Given the description of an element on the screen output the (x, y) to click on. 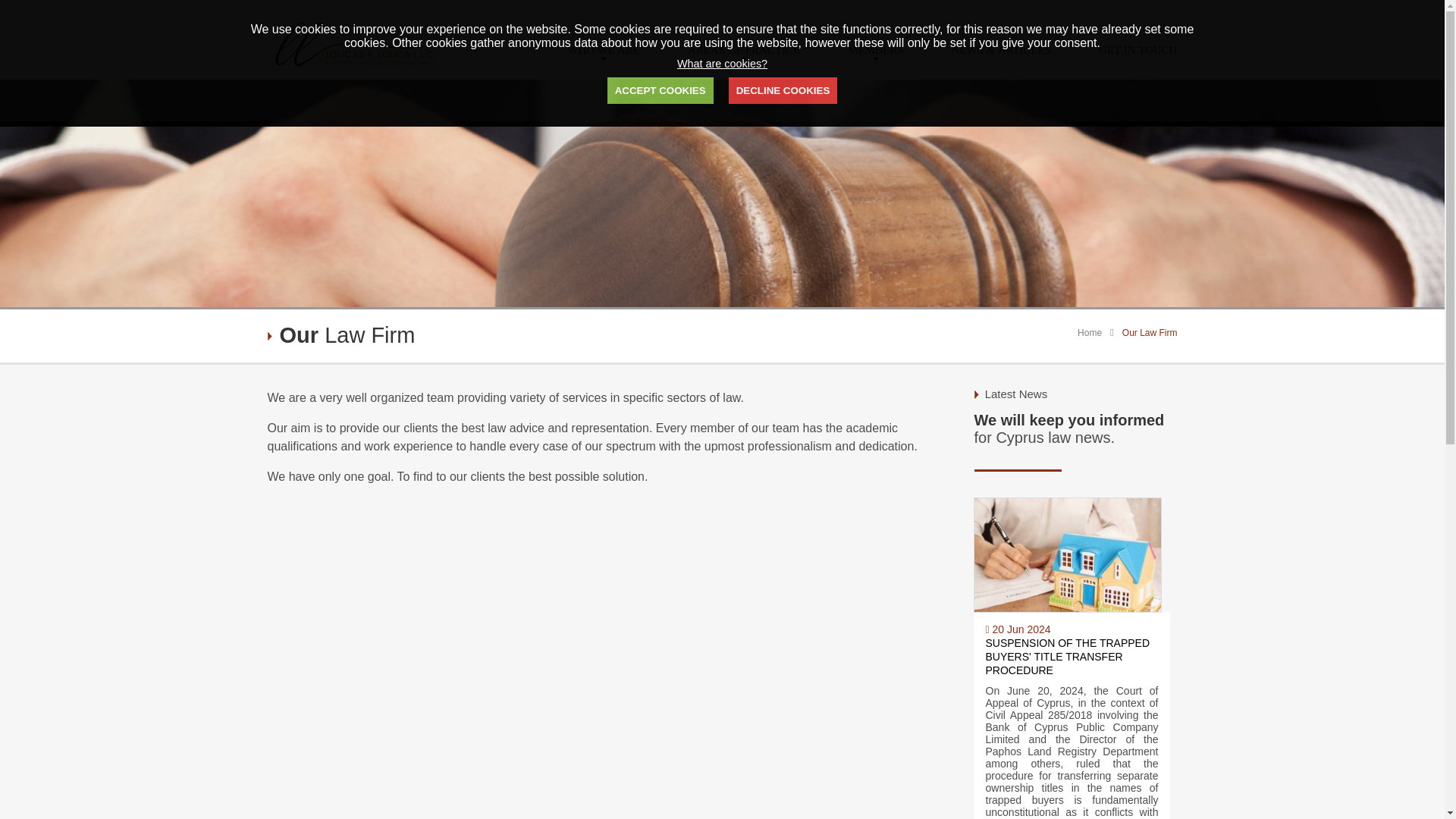
GET IN TOUCH (1137, 49)
What are cookies? (722, 63)
SUSPENSION OF THE TRAPPED BUYERS' TITLE TRANSFER PROCEDURE (1067, 656)
MEMBERS (874, 49)
ACCEPT COOKIES (660, 90)
Home (1089, 332)
DECLINE COOKIES (783, 90)
AREAS OF PRACTICE (743, 49)
WHO WE ARE (603, 49)
